Given the description of an element on the screen output the (x, y) to click on. 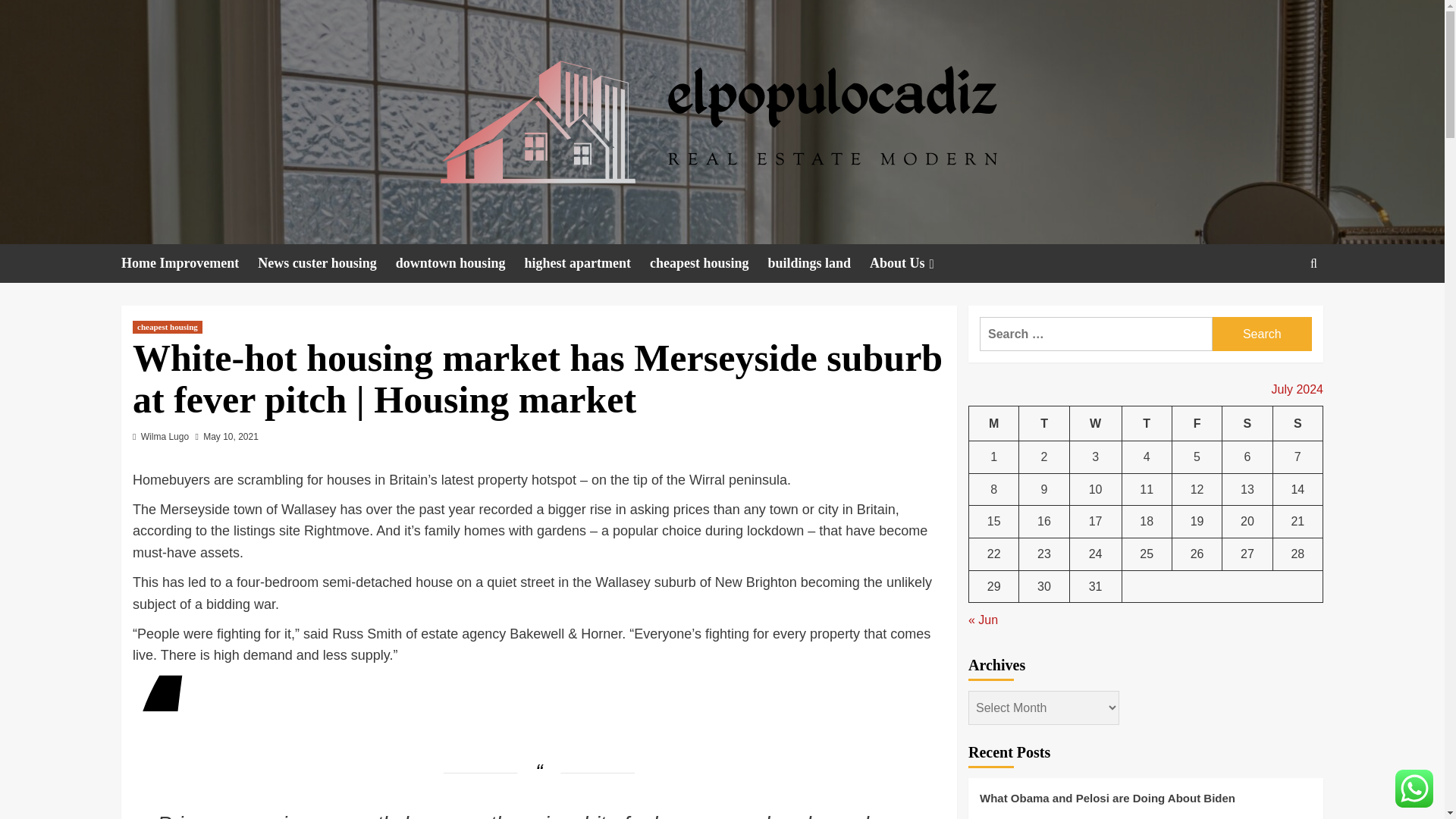
Search (1261, 333)
Friday (1196, 423)
Search (1261, 333)
About Us (913, 263)
highest apartment (586, 263)
buildings land (818, 263)
Home Improvement (188, 263)
Wednesday (1094, 423)
Monday (994, 423)
Wilma Lugo (165, 436)
Thursday (1146, 423)
News custer housing (326, 263)
Saturday (1247, 423)
downtown housing (460, 263)
Sunday (1297, 423)
